Given the description of an element on the screen output the (x, y) to click on. 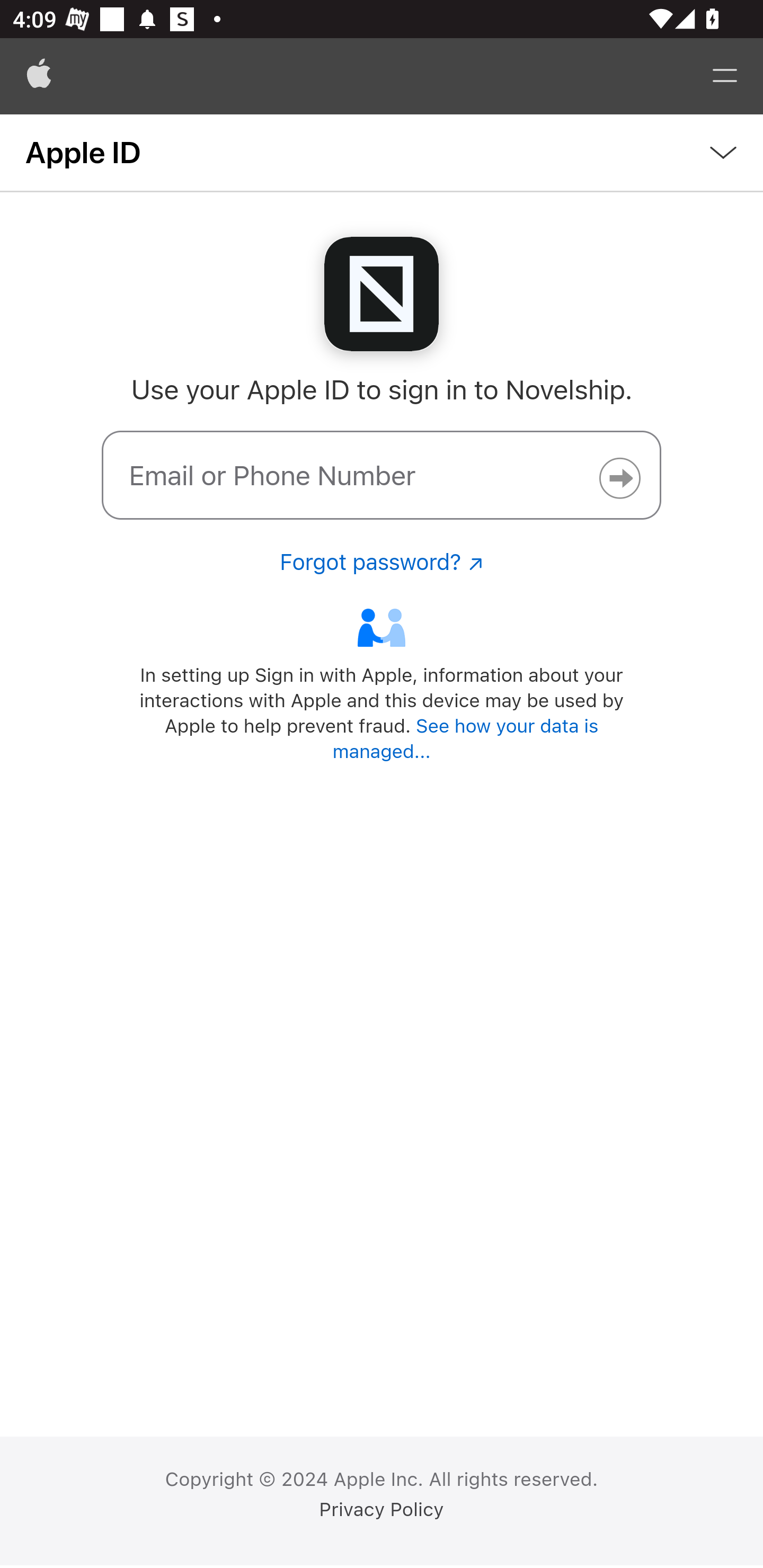
Apple (38, 75)
Menu (724, 75)
Continue (618, 477)
Privacy Policy (381, 1509)
